Given the description of an element on the screen output the (x, y) to click on. 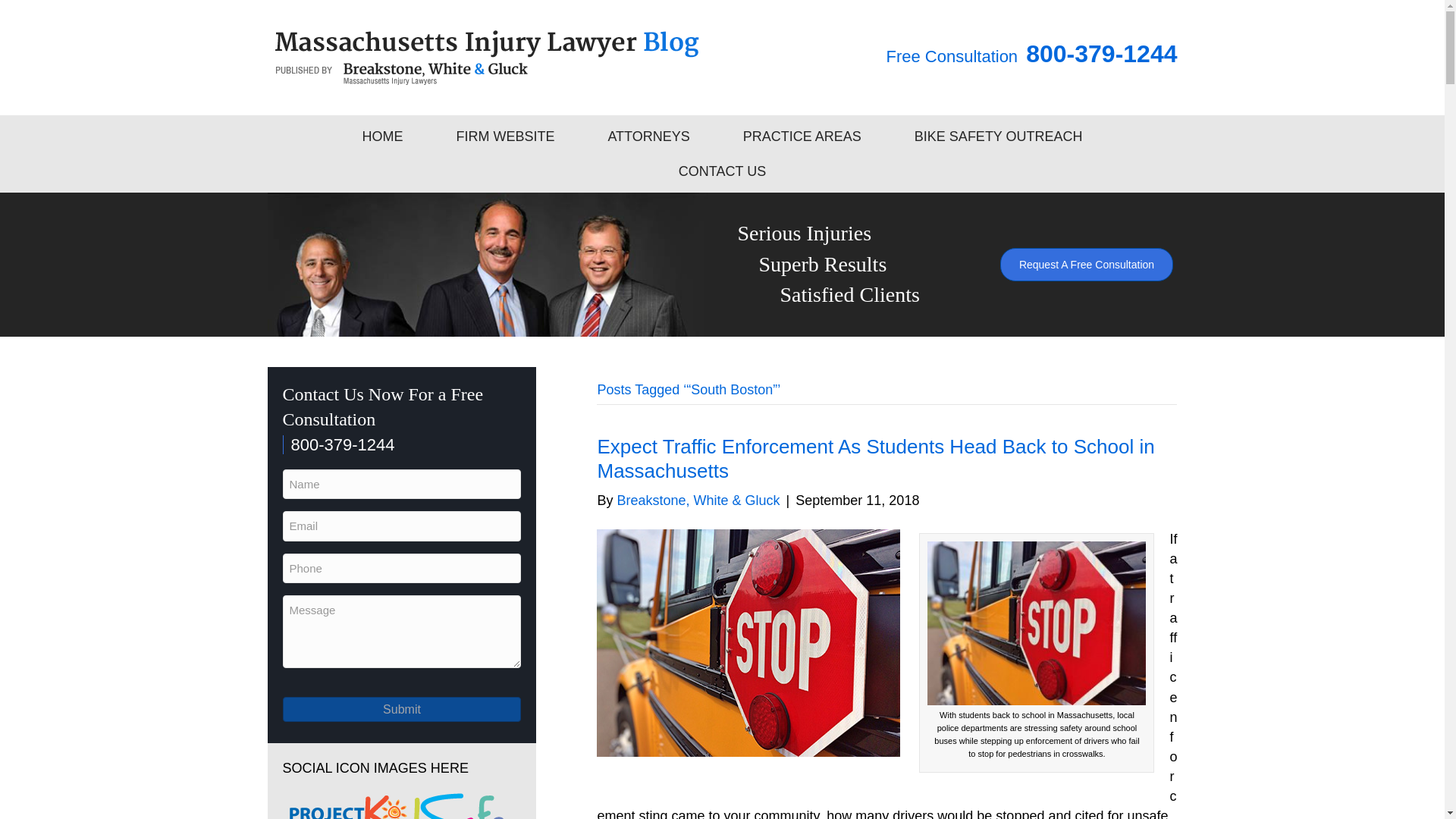
BIKE SAFETY OUTREACH (998, 135)
PRACTICE AREAS (802, 135)
800-379-1244 (338, 444)
800-379-1244 (1101, 53)
Mass Injury Blog Attorneys (486, 264)
CONTACT US (722, 171)
Request A Free Consultation (1086, 264)
ATTORNEYS (648, 135)
